Given the description of an element on the screen output the (x, y) to click on. 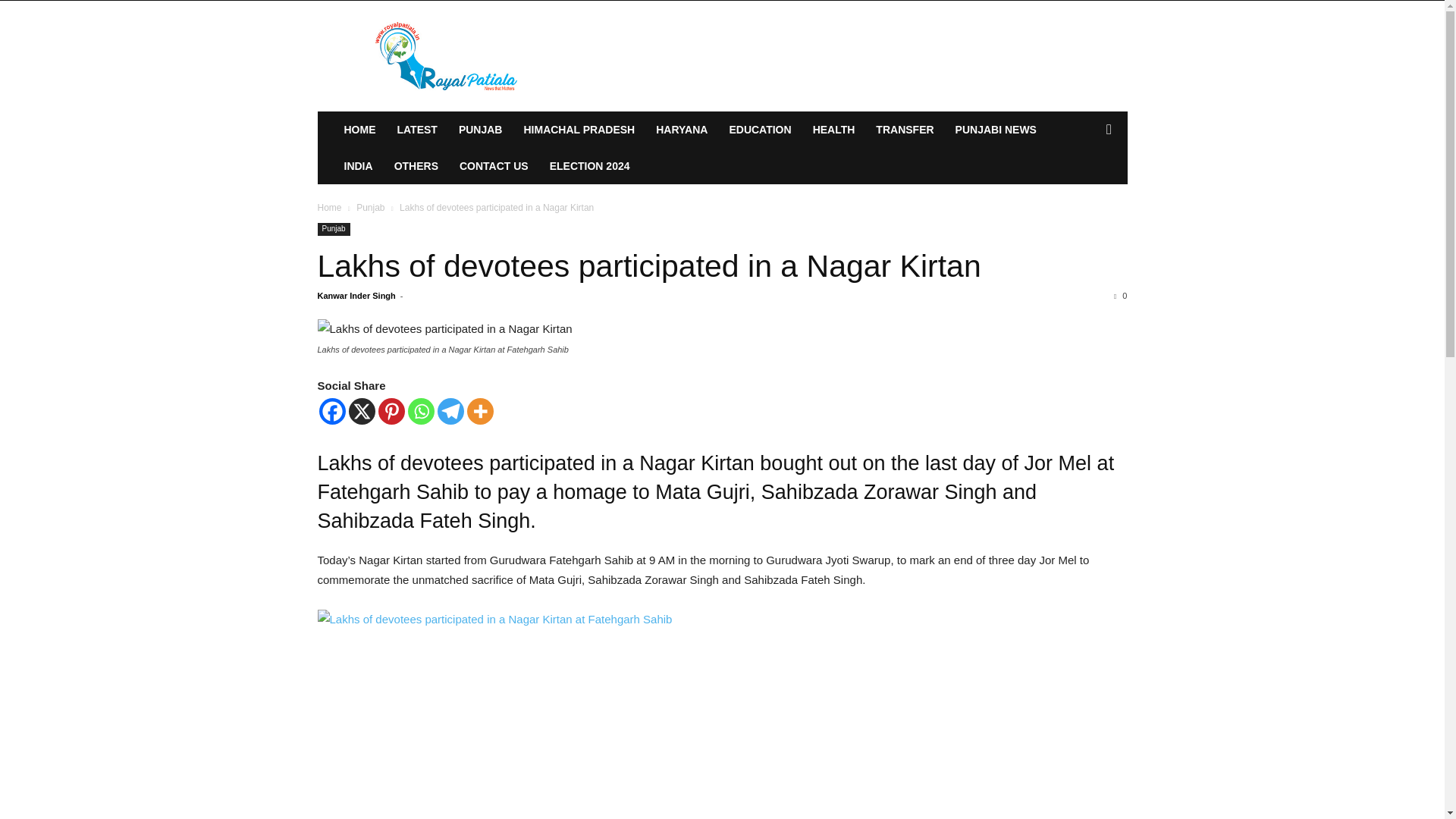
Home (328, 207)
HOME (360, 129)
HIMACHAL PRADESH (578, 129)
PUNJAB (480, 129)
INDIA (358, 166)
LATEST (417, 129)
ELECTION 2024 (589, 166)
TRANSFER (903, 129)
Lakhs of devotees participated in a Nagar Kirtan (648, 265)
PUNJABI NEWS (995, 129)
CONTACT US (493, 166)
Search (1085, 190)
Facebook (331, 411)
View all posts in Punjab (370, 207)
X (362, 411)
